Given the description of an element on the screen output the (x, y) to click on. 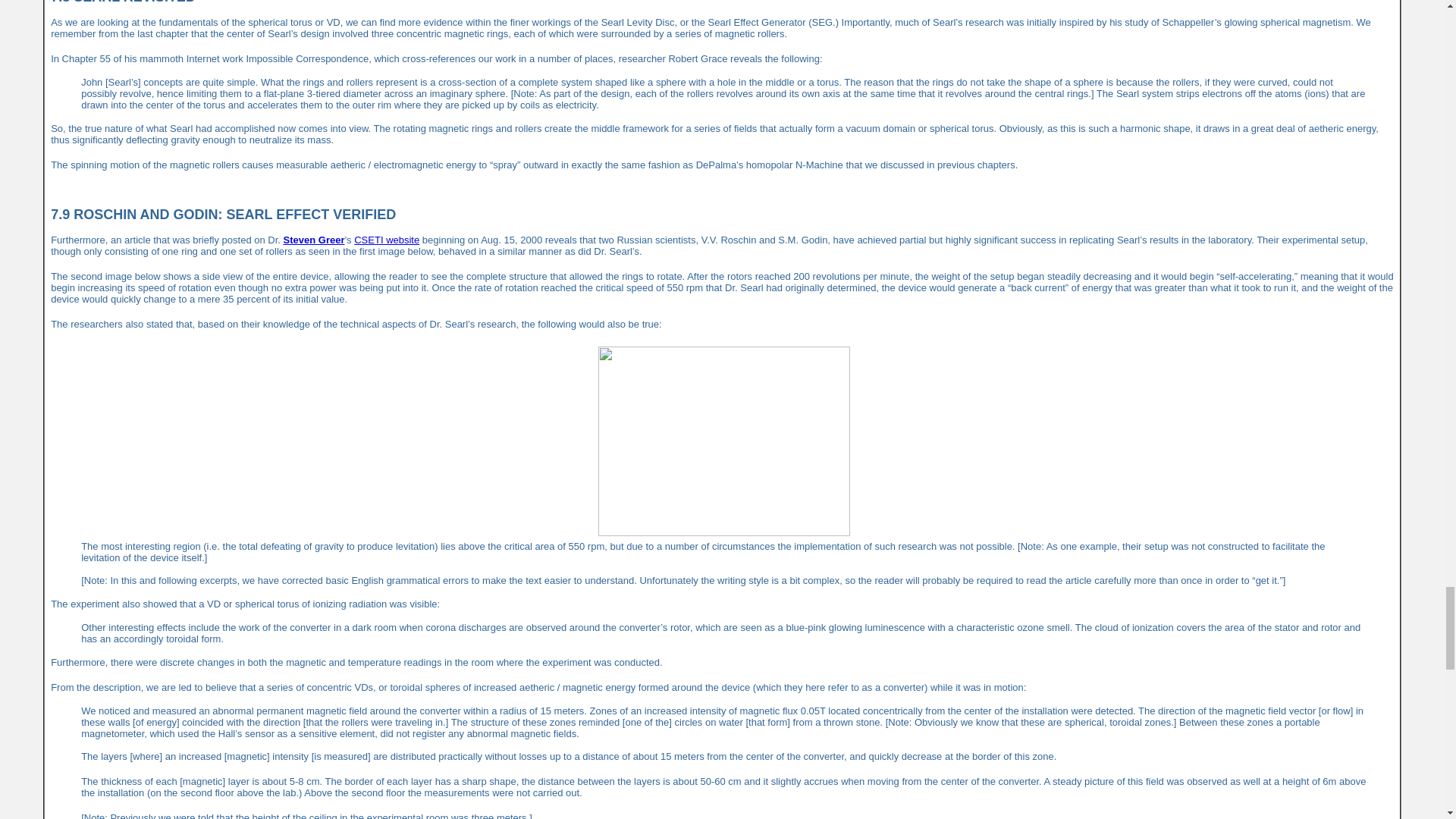
CSETI website (386, 239)
Steven Greer (314, 239)
